Given the description of an element on the screen output the (x, y) to click on. 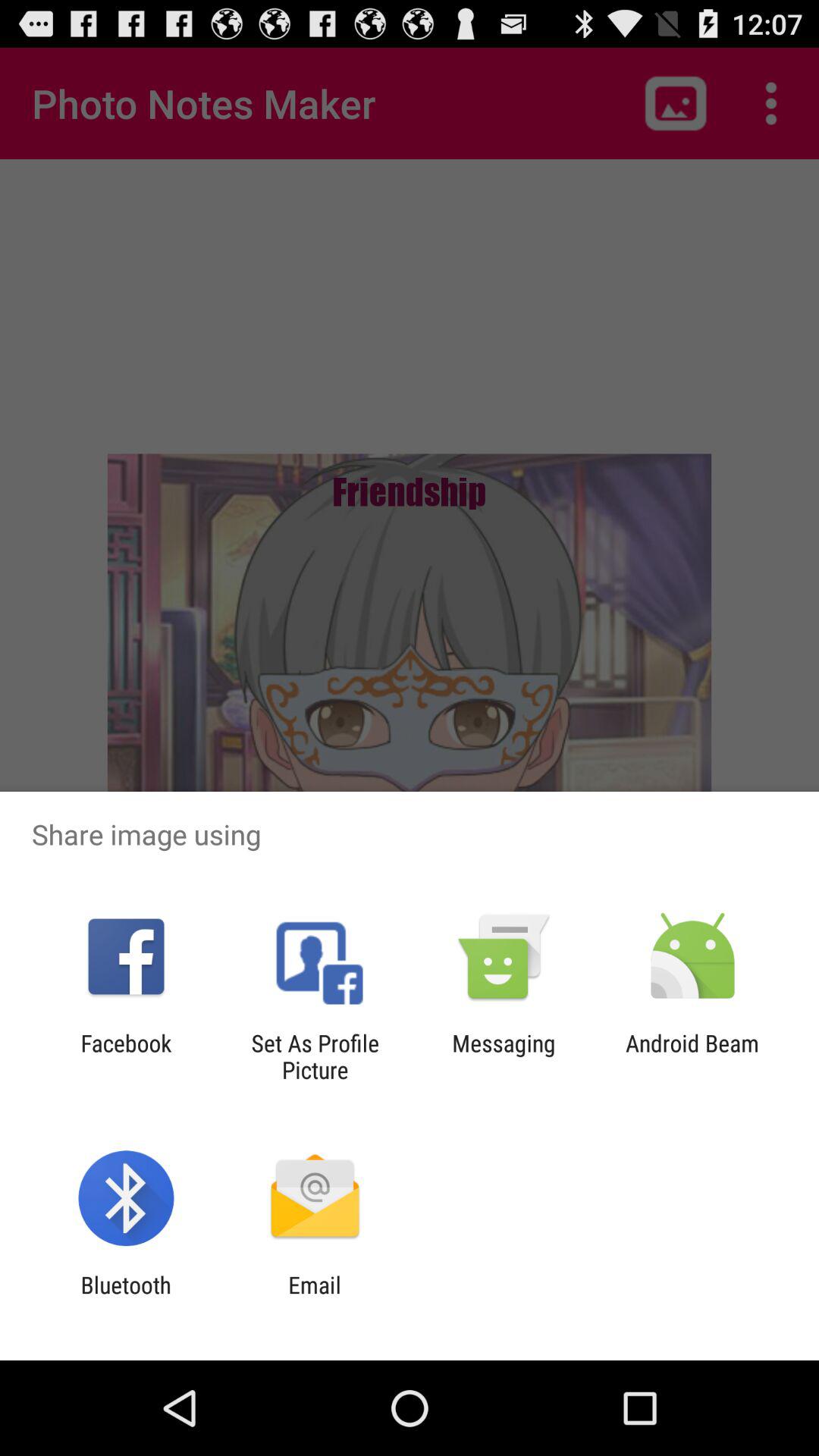
click messaging (503, 1056)
